Given the description of an element on the screen output the (x, y) to click on. 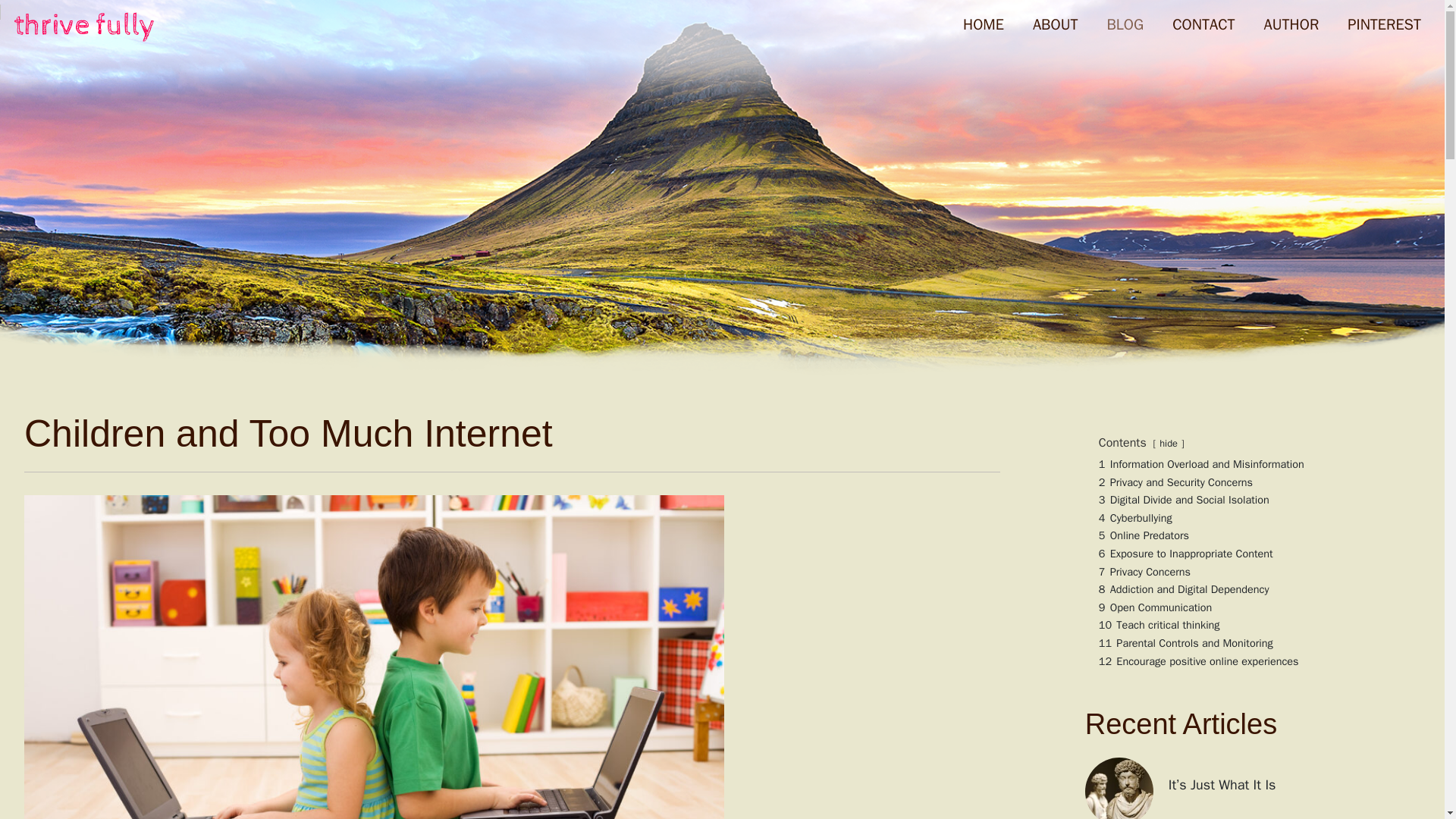
5 Online Predators (1144, 535)
9 Open Communication (1155, 607)
Author (1291, 24)
10 Teach critical thinking (1159, 624)
Pinterest (1384, 24)
Home (983, 24)
ABOUT (1055, 24)
hide (1167, 443)
PINTEREST (1384, 24)
About (1055, 24)
6 Exposure to Inappropriate Content (1185, 553)
AUTHOR (1291, 24)
1 Information Overload and Misinformation (1201, 463)
Contact (1203, 24)
3 Digital Divide and Social Isolation (1184, 499)
